Given the description of an element on the screen output the (x, y) to click on. 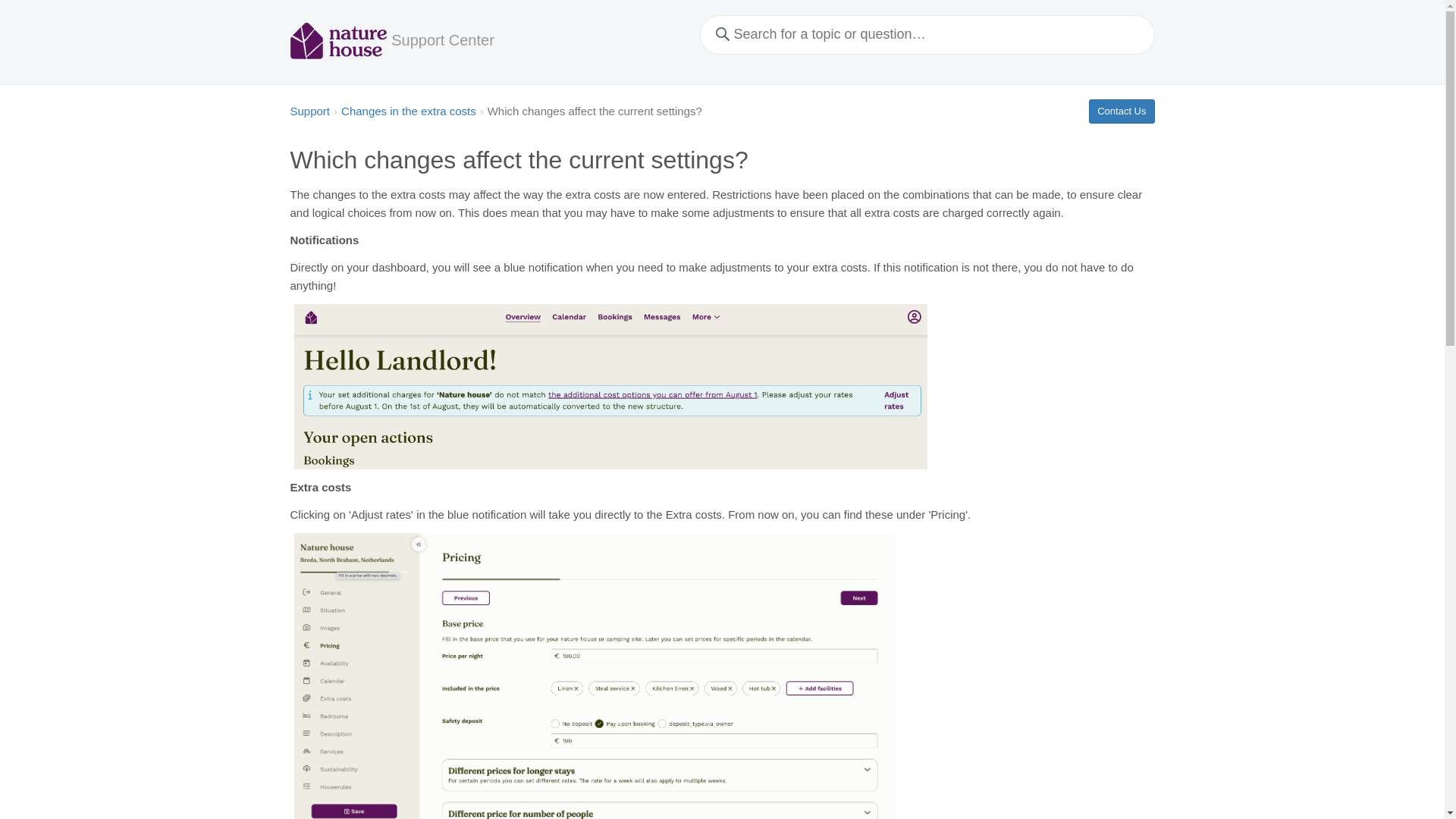
Contact Us (1121, 111)
Support Center (443, 38)
Support (309, 110)
Changes in the extra costs (408, 110)
